Given the description of an element on the screen output the (x, y) to click on. 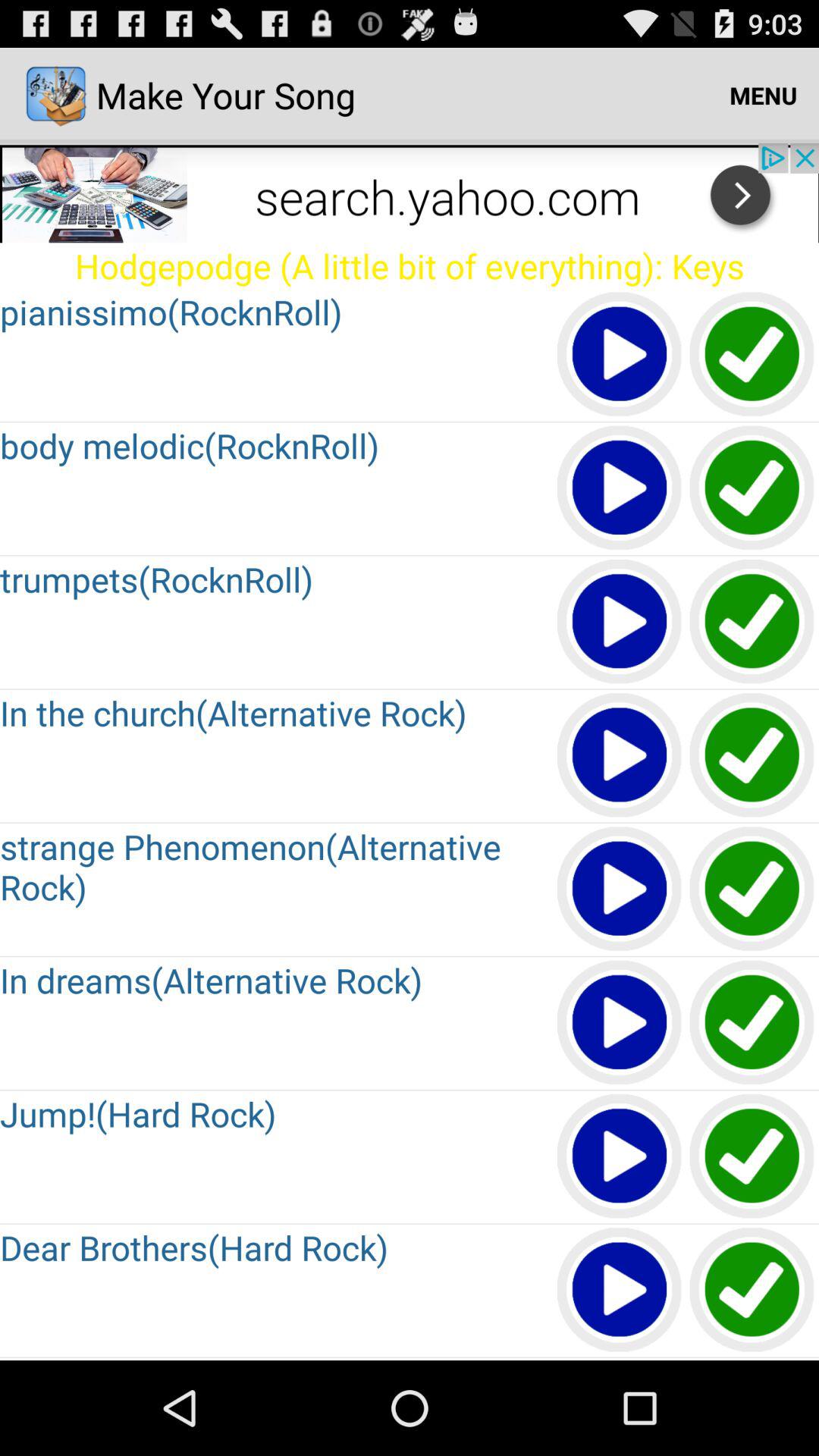
select option (752, 755)
